Given the description of an element on the screen output the (x, y) to click on. 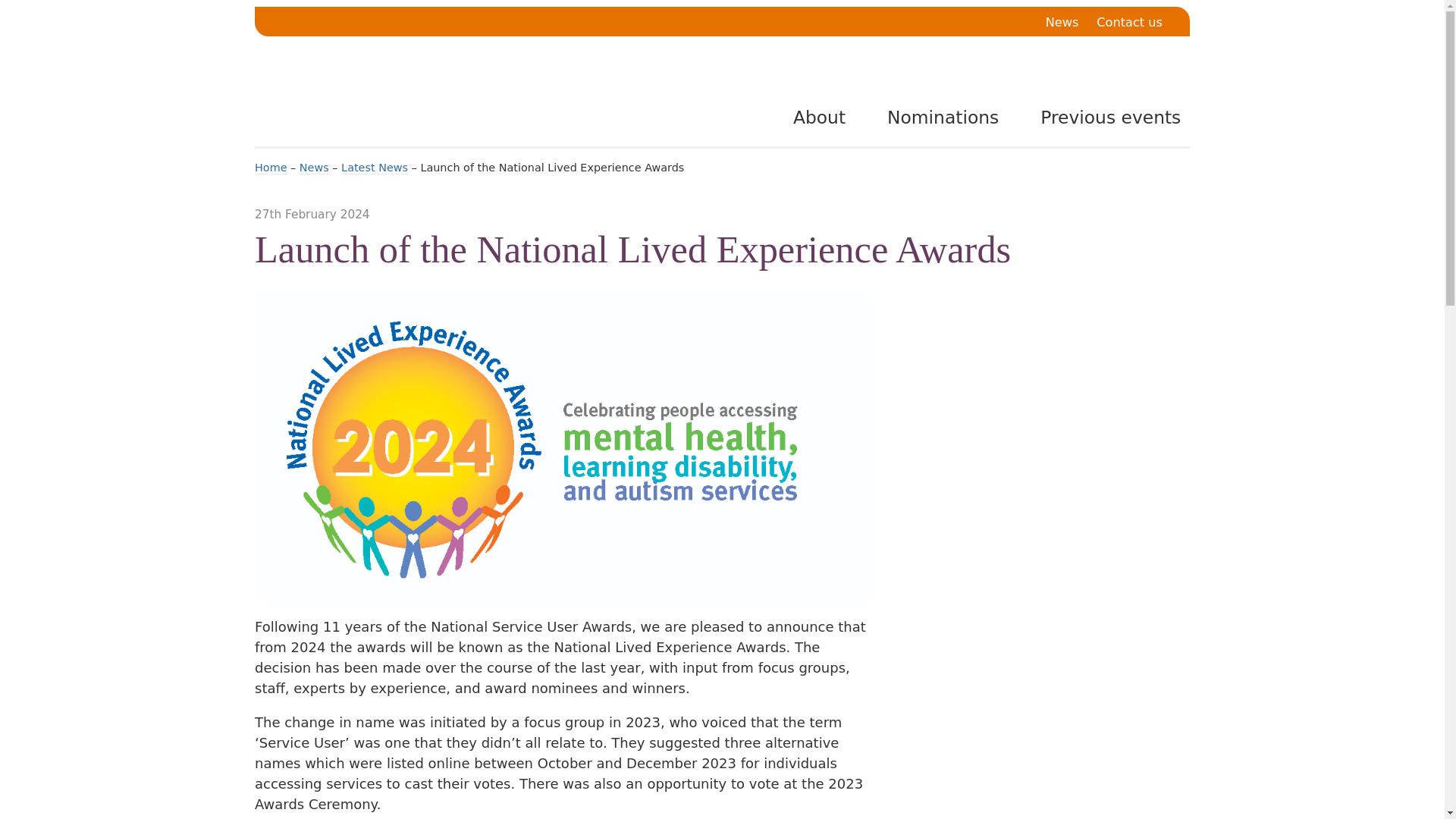
Cygnet Health Care (420, 98)
Contact us (1128, 22)
News (1061, 22)
Go to the Latest News category archives. (373, 167)
News (314, 167)
Nominations (933, 117)
Go to National Lived Experience Awards. (270, 167)
About (808, 117)
Home (270, 167)
Go to News. (314, 167)
